Given the description of an element on the screen output the (x, y) to click on. 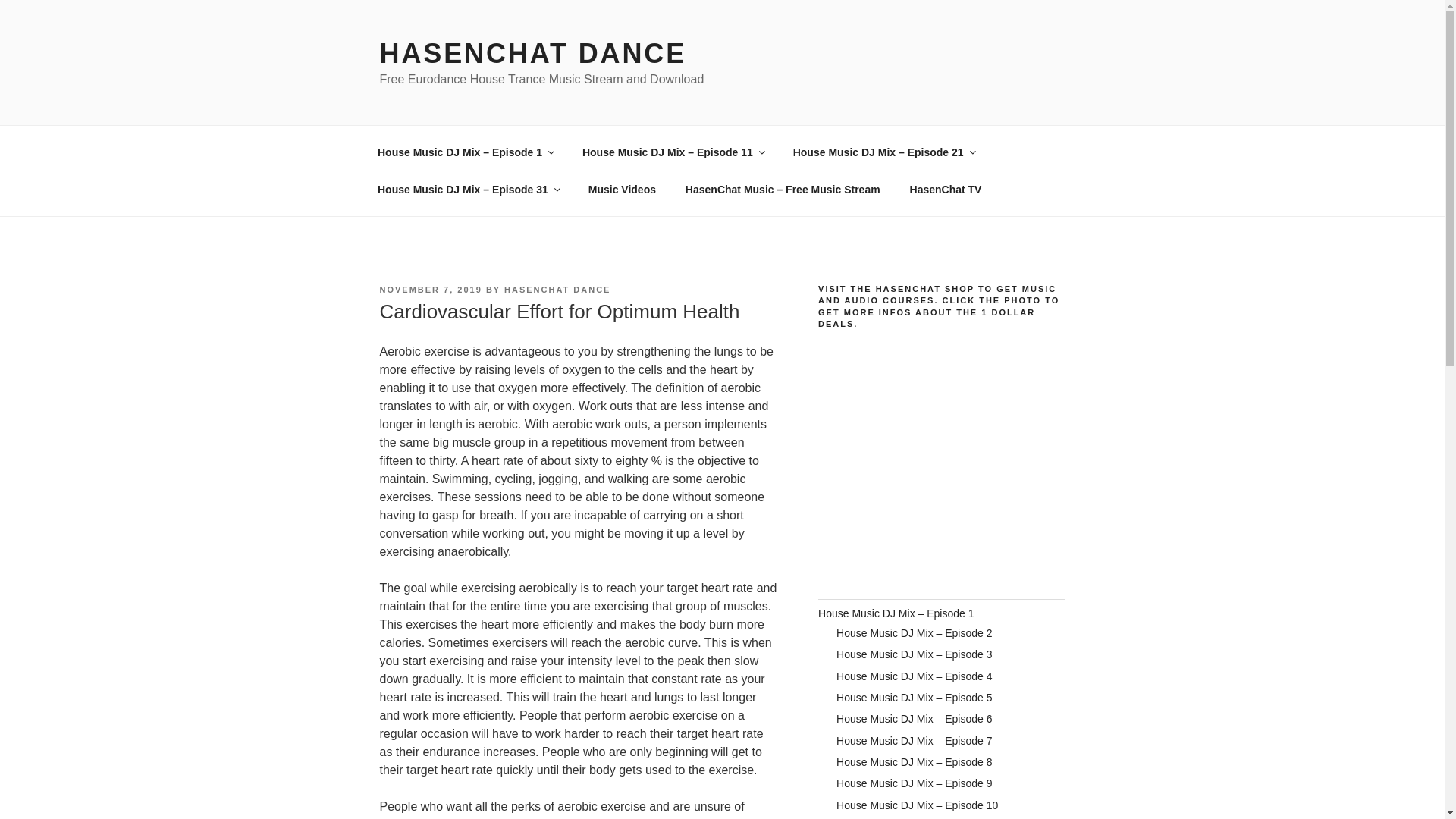
HASENCHAT DANCE (531, 52)
